Given the description of an element on the screen output the (x, y) to click on. 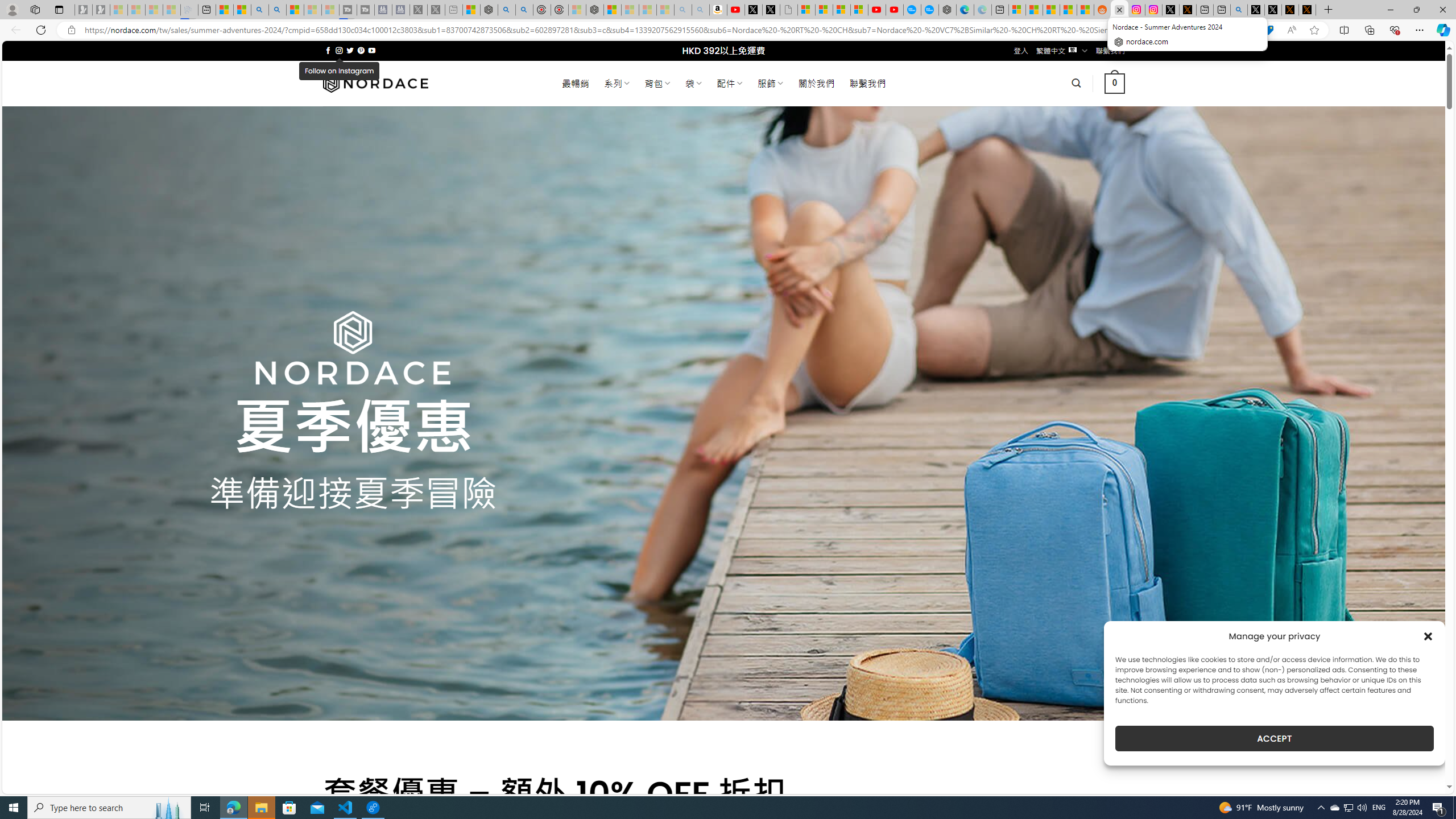
Follow on YouTube (371, 50)
Nordace - Summer Adventures 2024 (1119, 9)
Close tab (1119, 9)
Follow on Pinterest (360, 50)
Copilot (Ctrl+Shift+.) (1442, 29)
Browser essentials (1394, 29)
Address and search bar (658, 29)
